Given the description of an element on the screen output the (x, y) to click on. 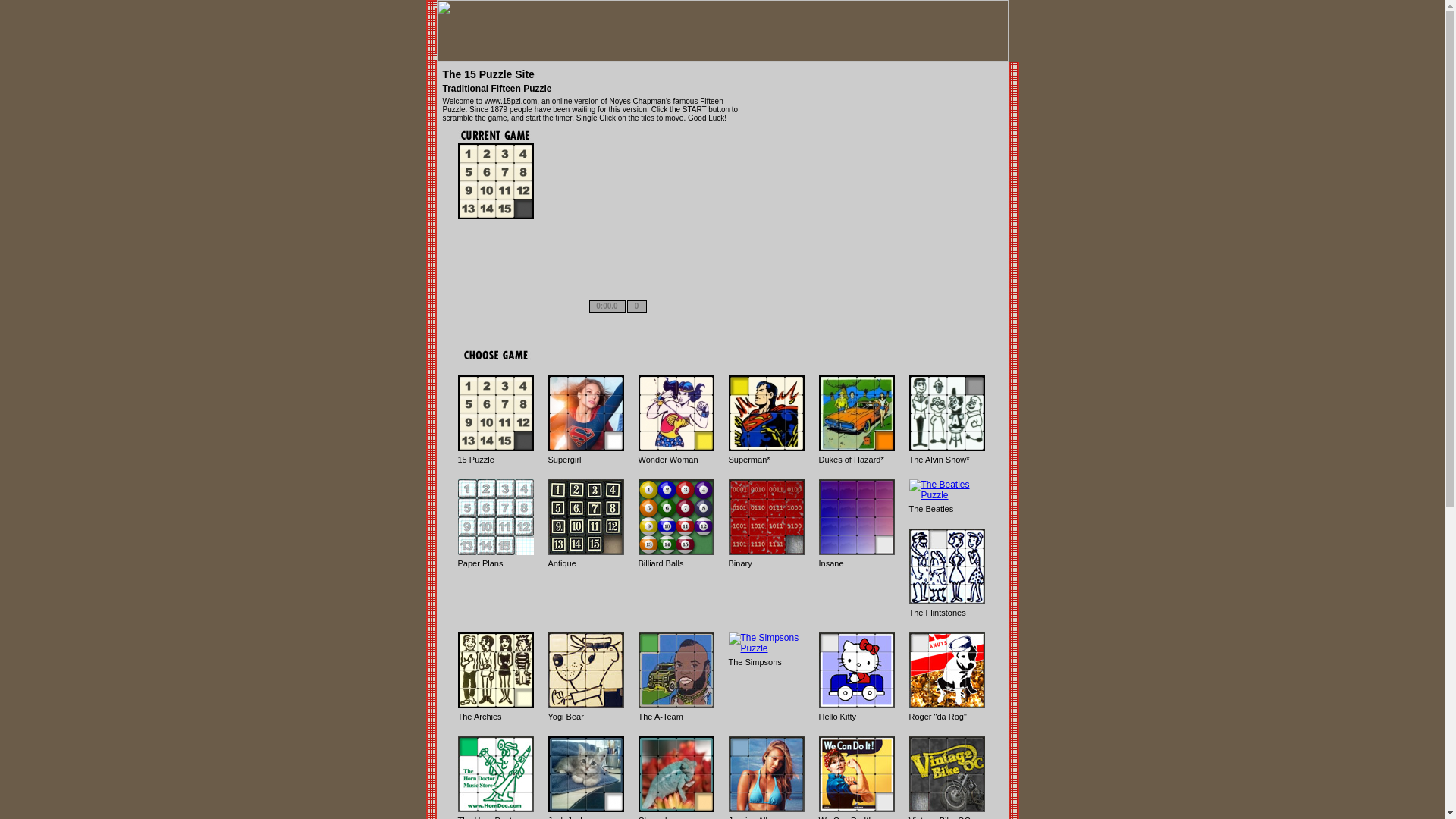
We Can Do It! Element type: hover (856, 774)
The Archies Element type: hover (495, 670)
Antique Puzzle Element type: hover (585, 517)
Wonder Woman Puzzle Element type: hover (676, 413)
Yogi Bear Puzzle Element type: hover (585, 670)
The Beatles Puzzle Element type: hover (946, 489)
Binary Puzzle Element type: hover (765, 517)
Dukes of Hazard Puzzle Element type: hover (856, 413)
Insane Puzzle Element type: hover (856, 517)
Superman Puzzle Element type: hover (765, 413)
Vintage Bike OC Element type: hover (946, 774)
Jessica Alba Element type: hover (765, 774)
Hello Kitty Element type: hover (856, 670)
The A-Team Element type: hover (676, 670)
The Flintstones Puzzle Element type: hover (946, 566)
Billiard Balls Element type: hover (676, 517)
The Horn Doctor Element type: hover (495, 774)
The Alvin Show Puzzle Element type: hover (946, 413)
Supergirl Puzzle Element type: hover (585, 413)
The Paper Plans Puzzle Element type: hover (495, 517)
Chameleon Puzzle Element type: hover (676, 774)
The Simpsons Puzzle Element type: hover (765, 642)
Roger's Puzzle Element type: hover (946, 670)
Jack Jack Puzzle Element type: hover (585, 774)
Traditional 15 Puzzle Element type: hover (495, 413)
